Given the description of an element on the screen output the (x, y) to click on. 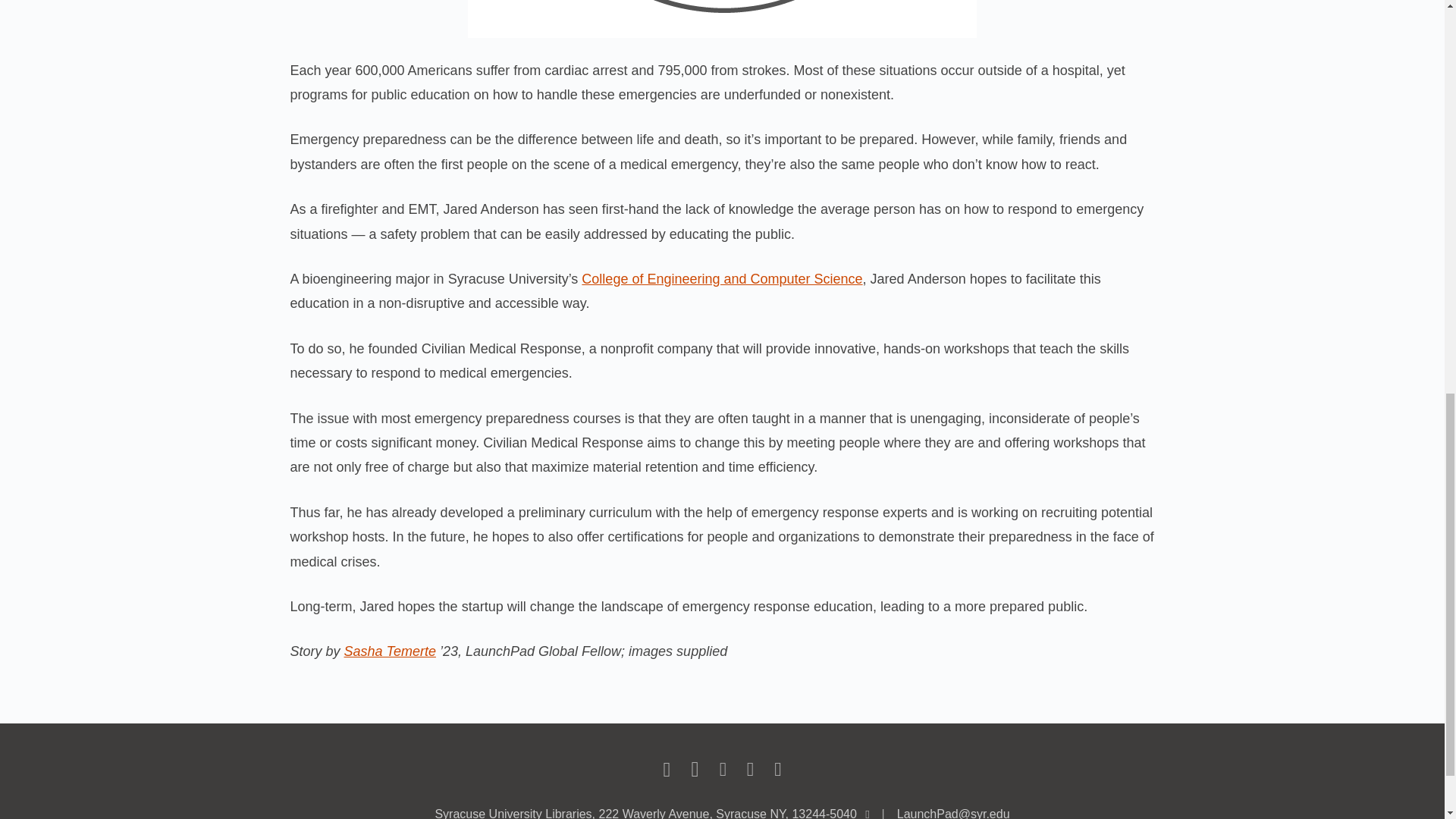
Link to address on Google Maps (644, 813)
